Given the description of an element on the screen output the (x, y) to click on. 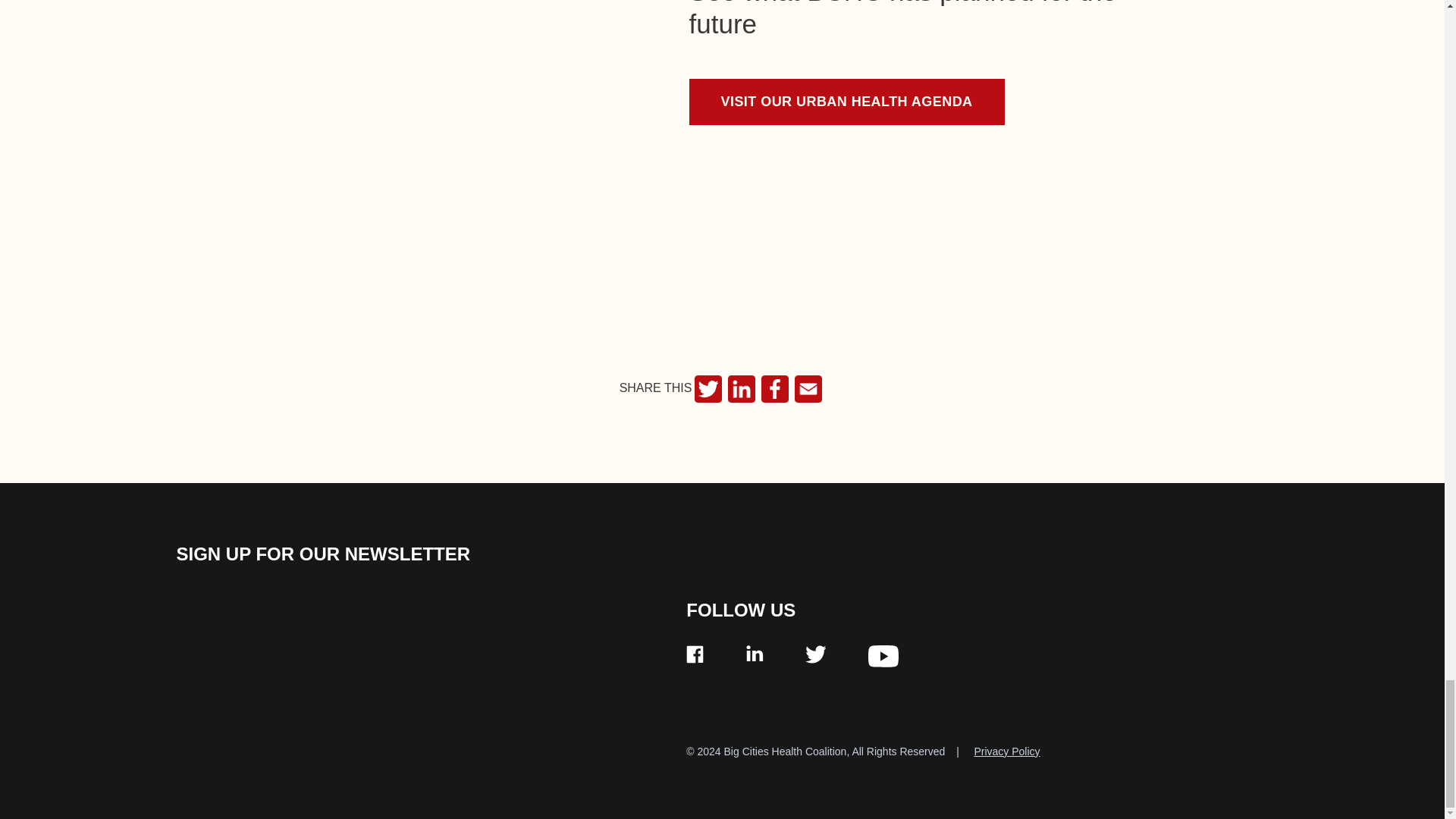
LinkedIn (741, 388)
Twitter (708, 388)
Facebook (775, 388)
Email (808, 388)
